Given the description of an element on the screen output the (x, y) to click on. 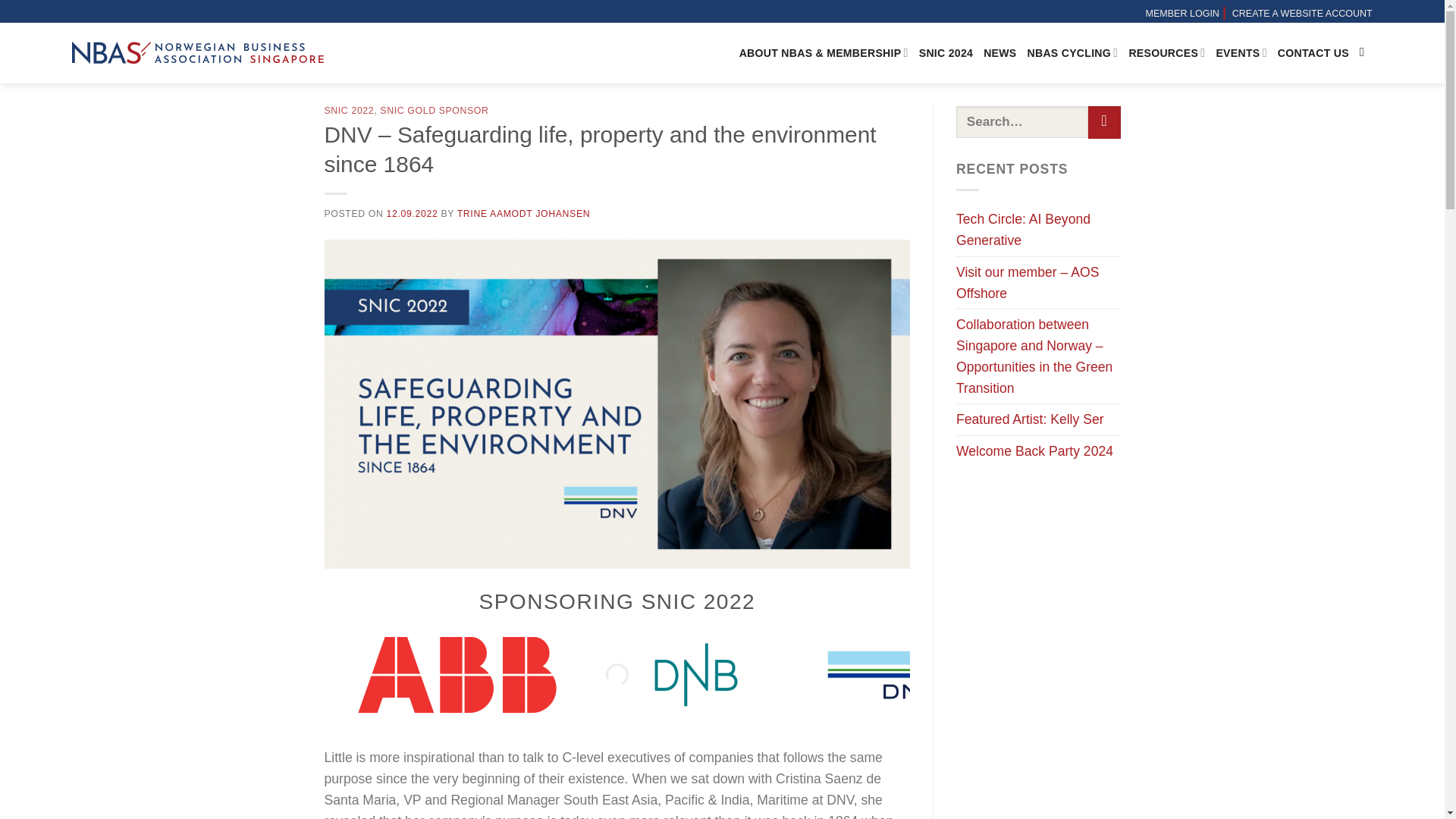
TRINE AAMODT JOHANSEN (524, 213)
CREATE A WEBSITE ACCOUNT (1302, 12)
MEMBER LOGIN (1181, 12)
RESOURCES (1166, 52)
SNIC 2022 (349, 110)
NBAS - Norwegian Business Association in Singapore (197, 52)
NBAS CYCLING (1072, 52)
SNIC GOLD SPONSOR (433, 110)
12.09.2022 (412, 213)
CONTACT US (1313, 52)
